Given the description of an element on the screen output the (x, y) to click on. 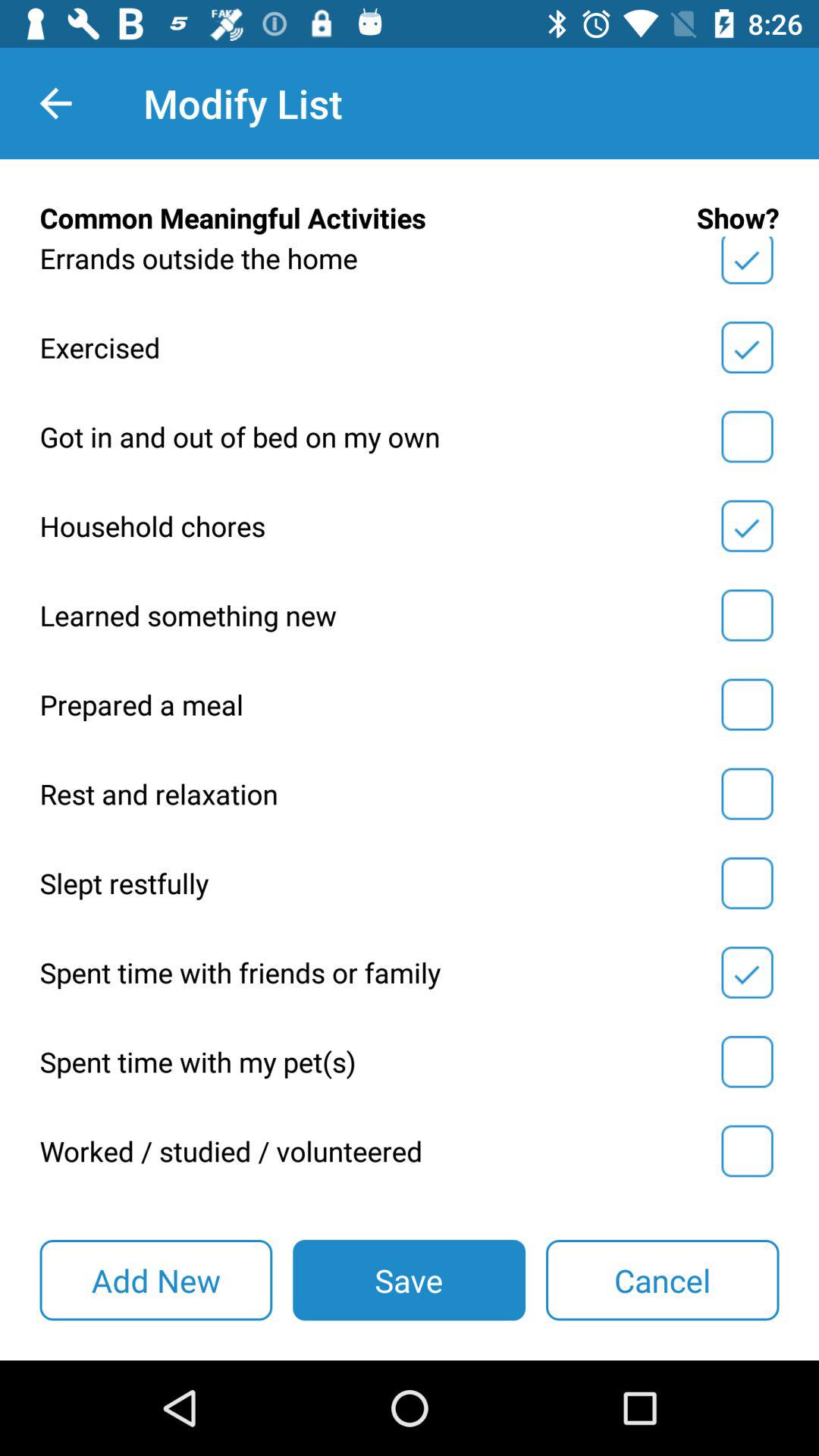
select the icon above the common meaningful activities icon (55, 103)
